Given the description of an element on the screen output the (x, y) to click on. 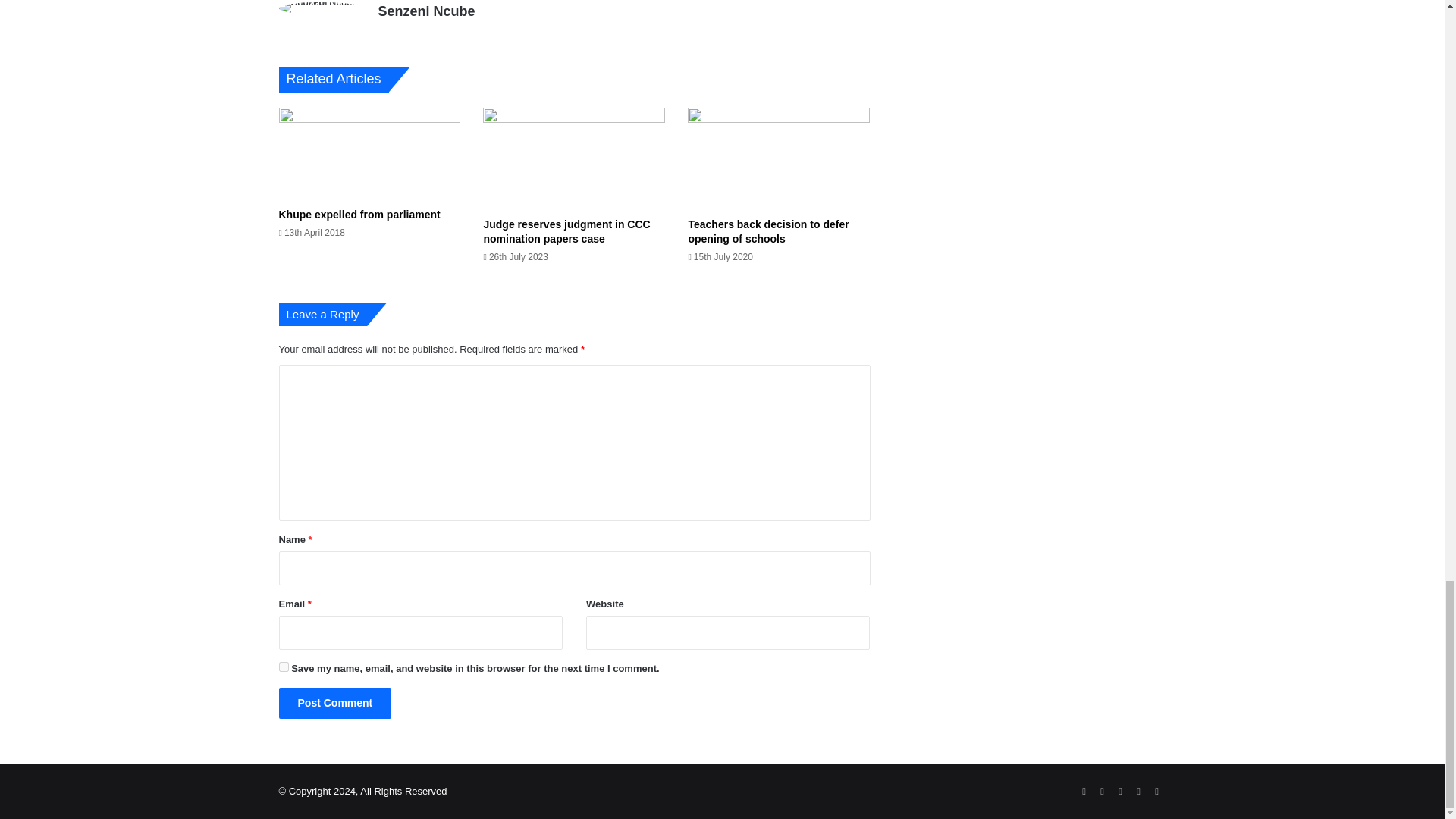
Post Comment (335, 703)
yes (283, 666)
